Given the description of an element on the screen output the (x, y) to click on. 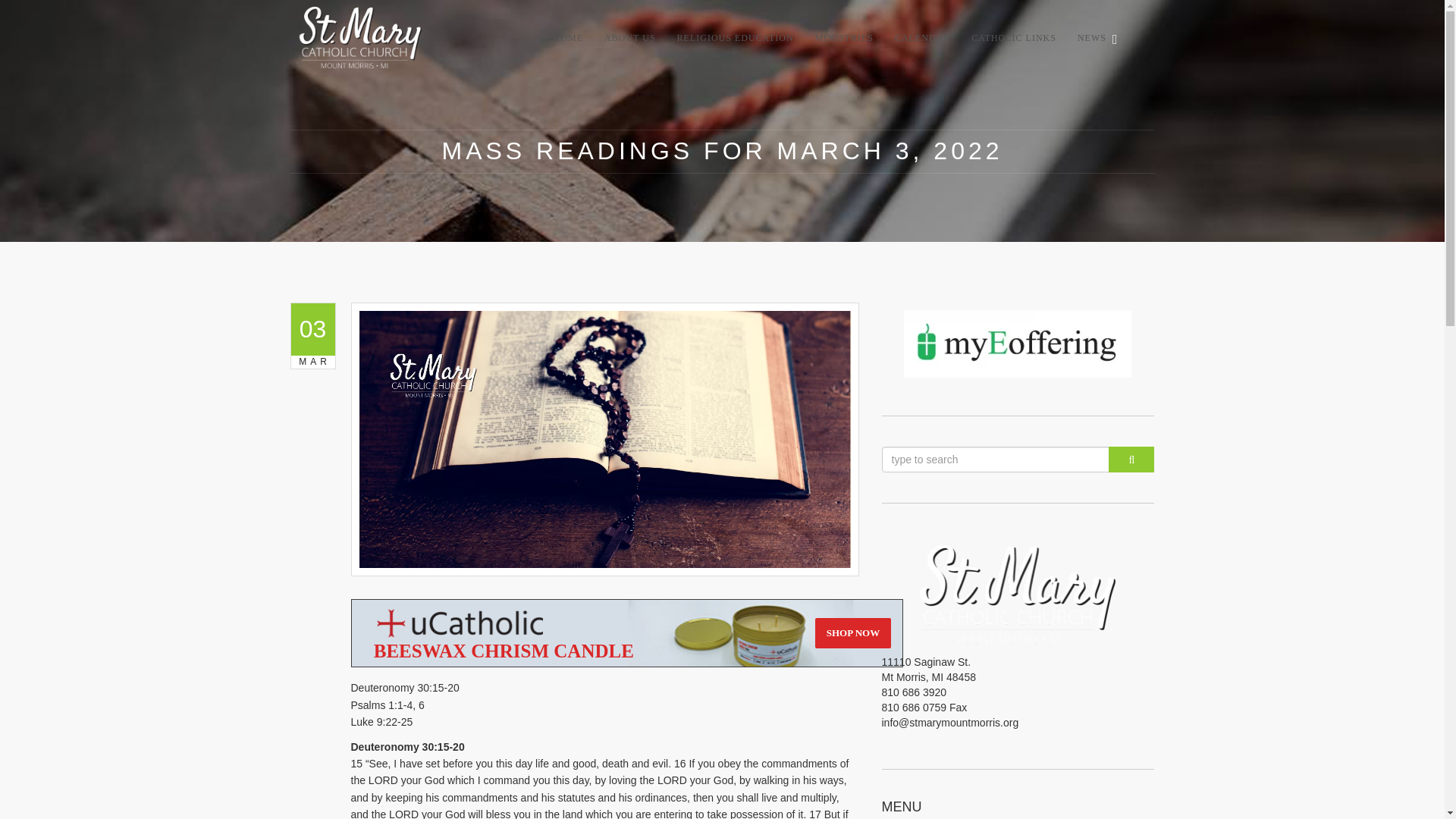
NEWS (1086, 36)
CALENDAR (921, 36)
MINISTRIES (844, 36)
ABOUT US (629, 36)
CATHOLIC LINKS (1013, 36)
HOME (568, 36)
RELIGIOUS EDUCATION (735, 36)
